Given the description of an element on the screen output the (x, y) to click on. 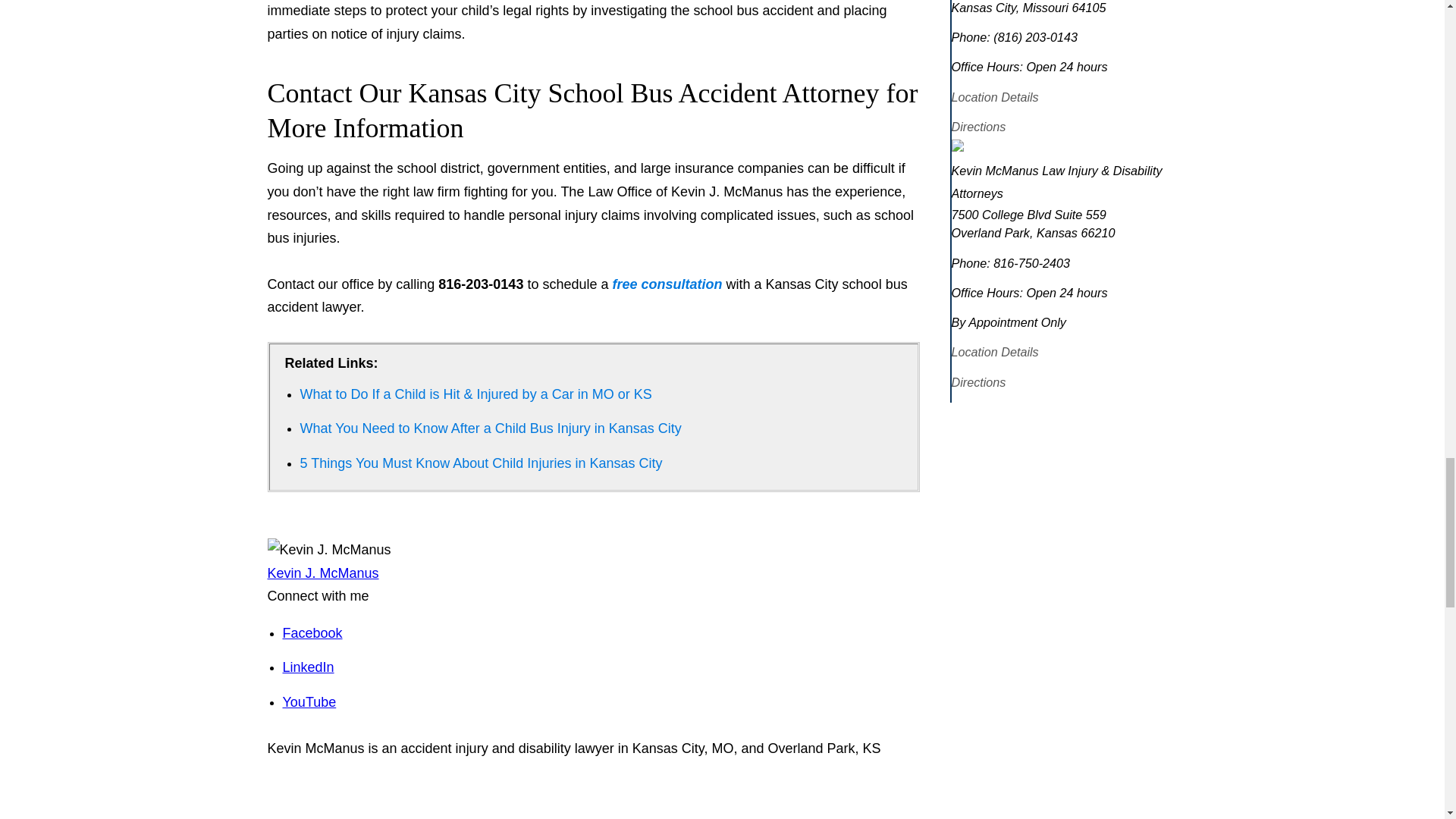
Find me on Facebook (312, 632)
Watch me on YouTube (309, 702)
Connect with me on LinkedIn (307, 667)
